Given the description of an element on the screen output the (x, y) to click on. 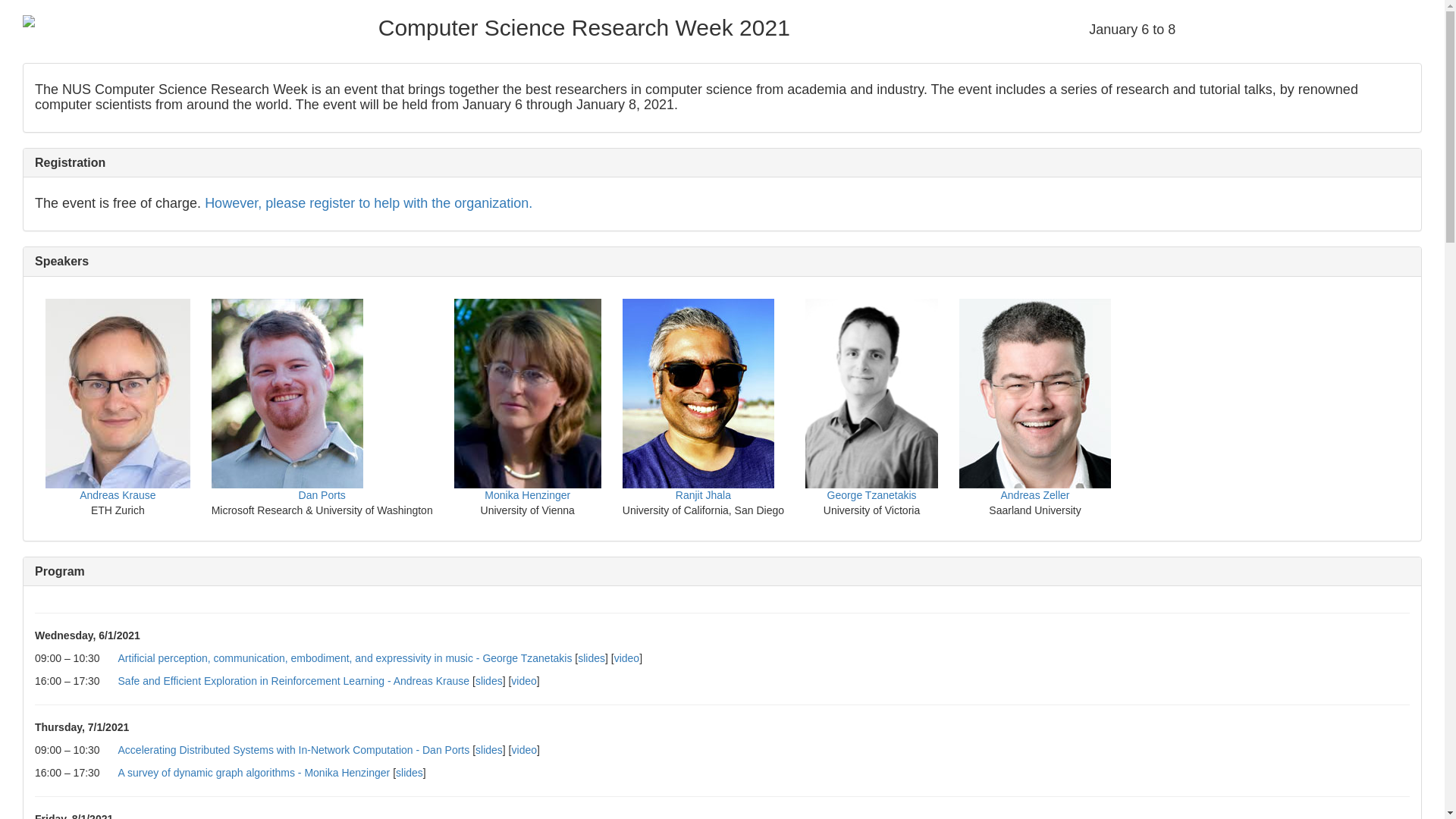
George Tzanetakis (871, 494)
video (626, 657)
However, please register to help with the organization. (368, 202)
Monika Henzinger (527, 494)
slides (591, 657)
Ranjit Jhala (702, 494)
A survey of dynamic graph algorithms - Monika Henzinger (253, 772)
